Given the description of an element on the screen output the (x, y) to click on. 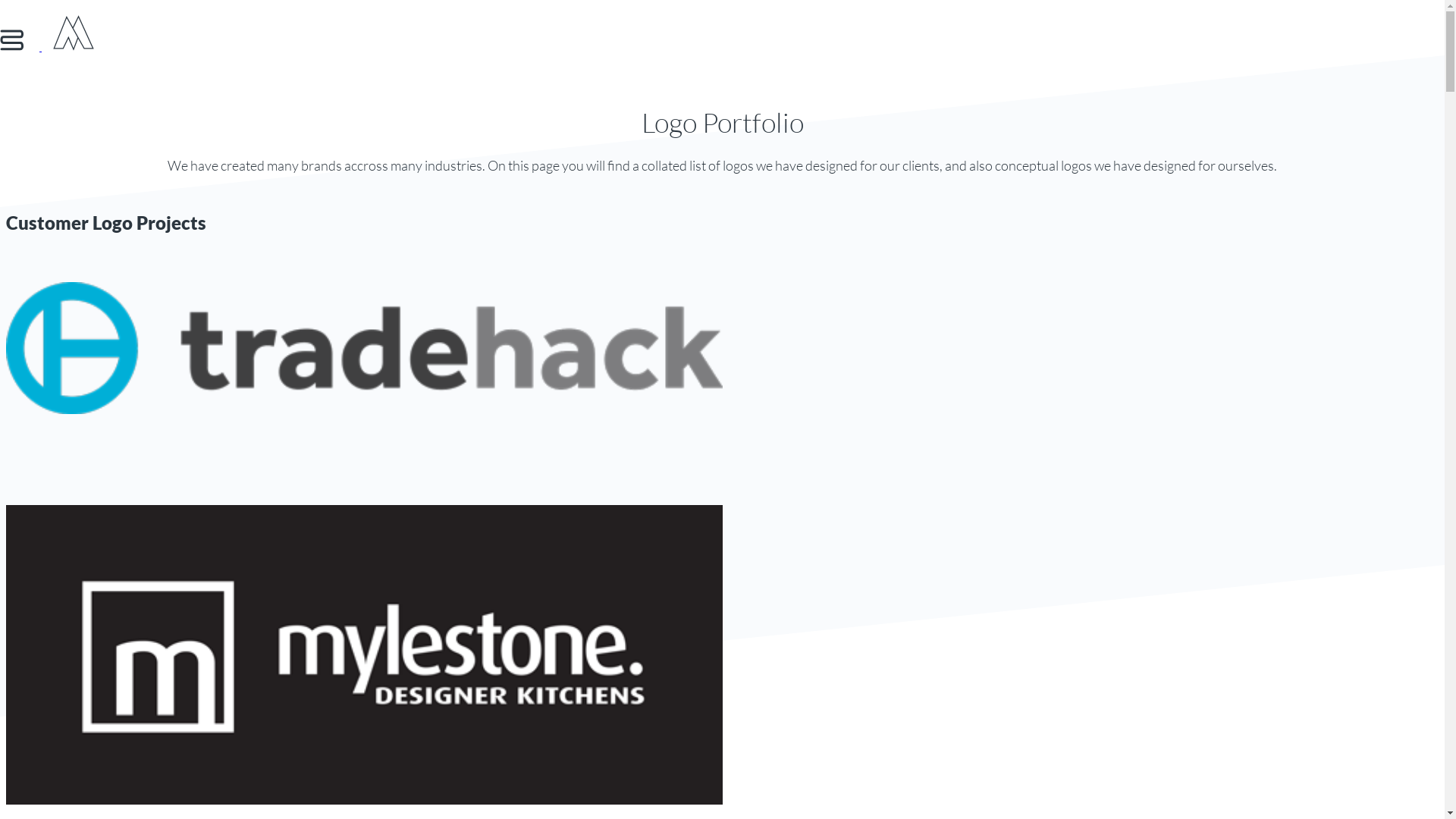
Show Menu Element type: text (20, 45)
Move Digital Element type: text (73, 45)
